Given the description of an element on the screen output the (x, y) to click on. 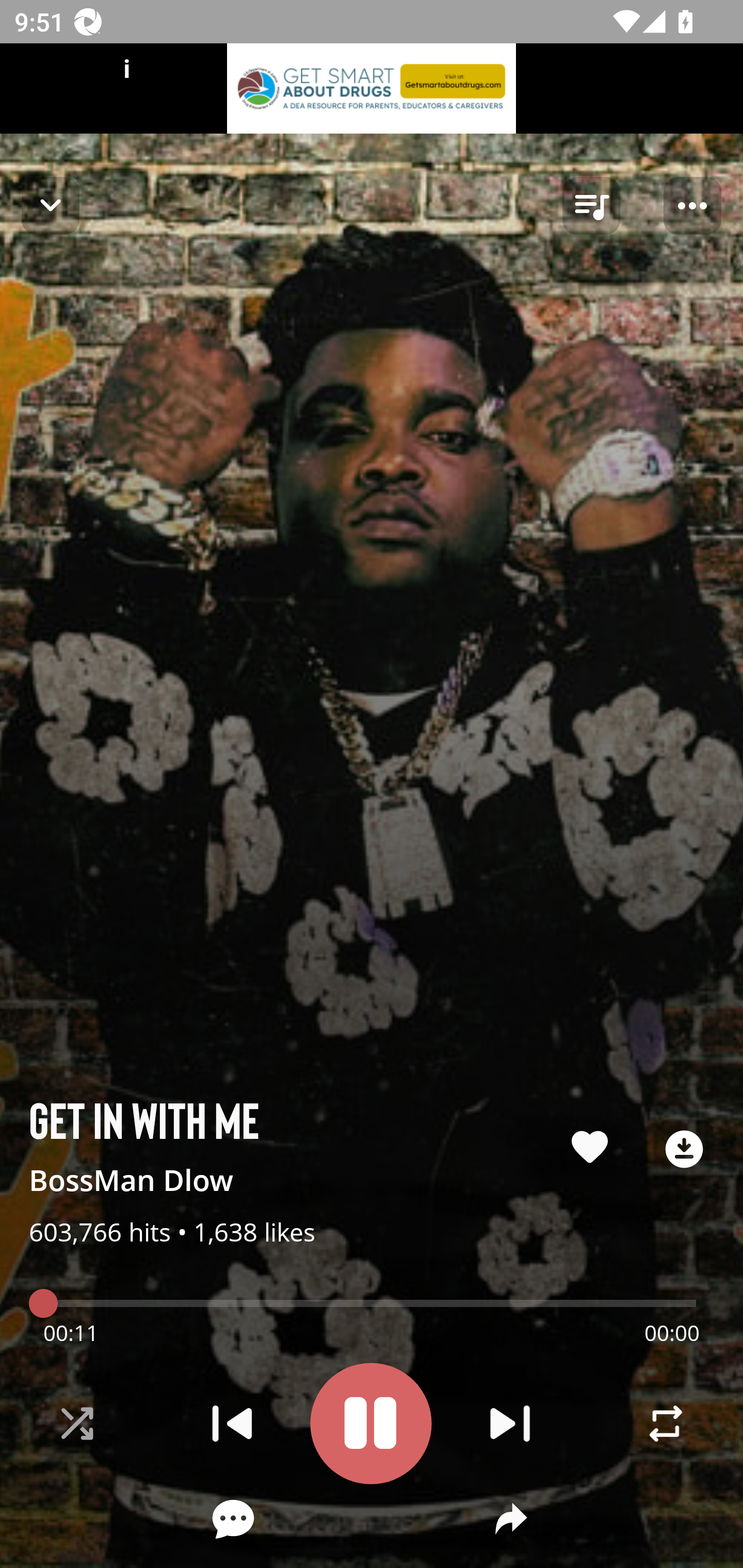
Navigate up (50, 205)
queue (590, 206)
Player options (692, 206)
